Given the description of an element on the screen output the (x, y) to click on. 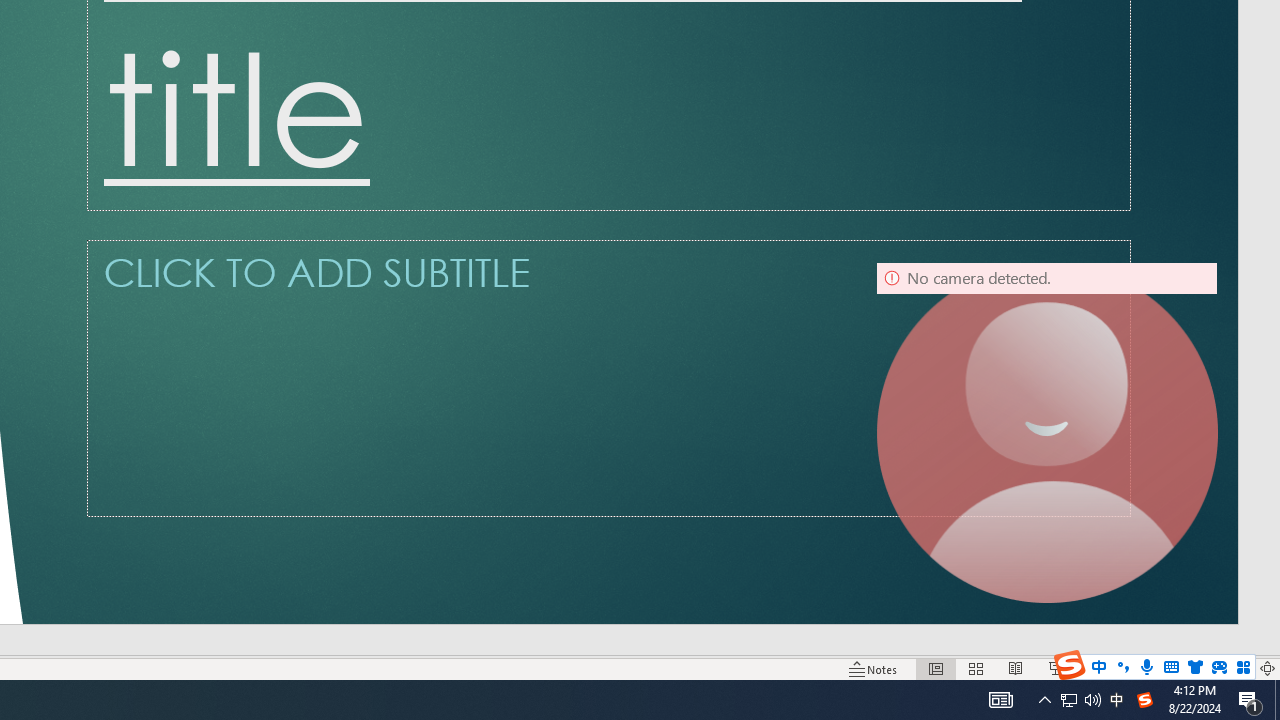
Zoom 161% (1234, 668)
